Given the description of an element on the screen output the (x, y) to click on. 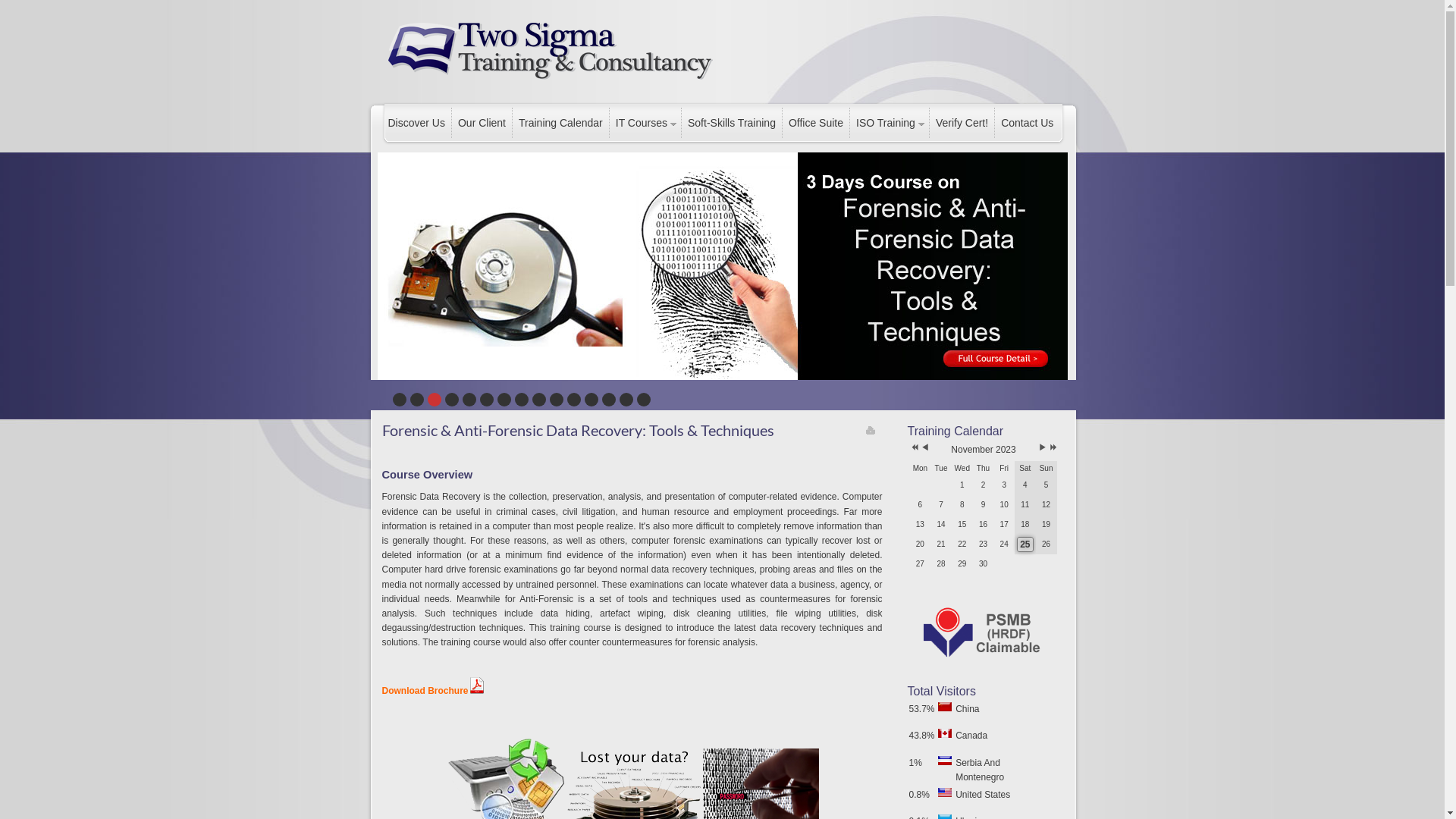
Download Brochure Element type: text (433, 689)
Discover Us Element type: text (416, 122)
Our Client Element type: text (481, 122)
Training Calendar Element type: text (559, 122)
Print Element type: hover (870, 429)
Serbia And Montenegro Element type: hover (944, 760)
Canada Element type: hover (944, 732)
ISO Training Element type: text (888, 122)
Soft-Skills Training Element type: text (730, 122)
United States Element type: hover (944, 792)
Office Suite Element type: text (815, 122)
Contact Us Element type: text (1026, 122)
China Element type: hover (944, 706)
Verify Cert! Element type: text (961, 122)
IT Courses Element type: text (644, 122)
